Given the description of an element on the screen output the (x, y) to click on. 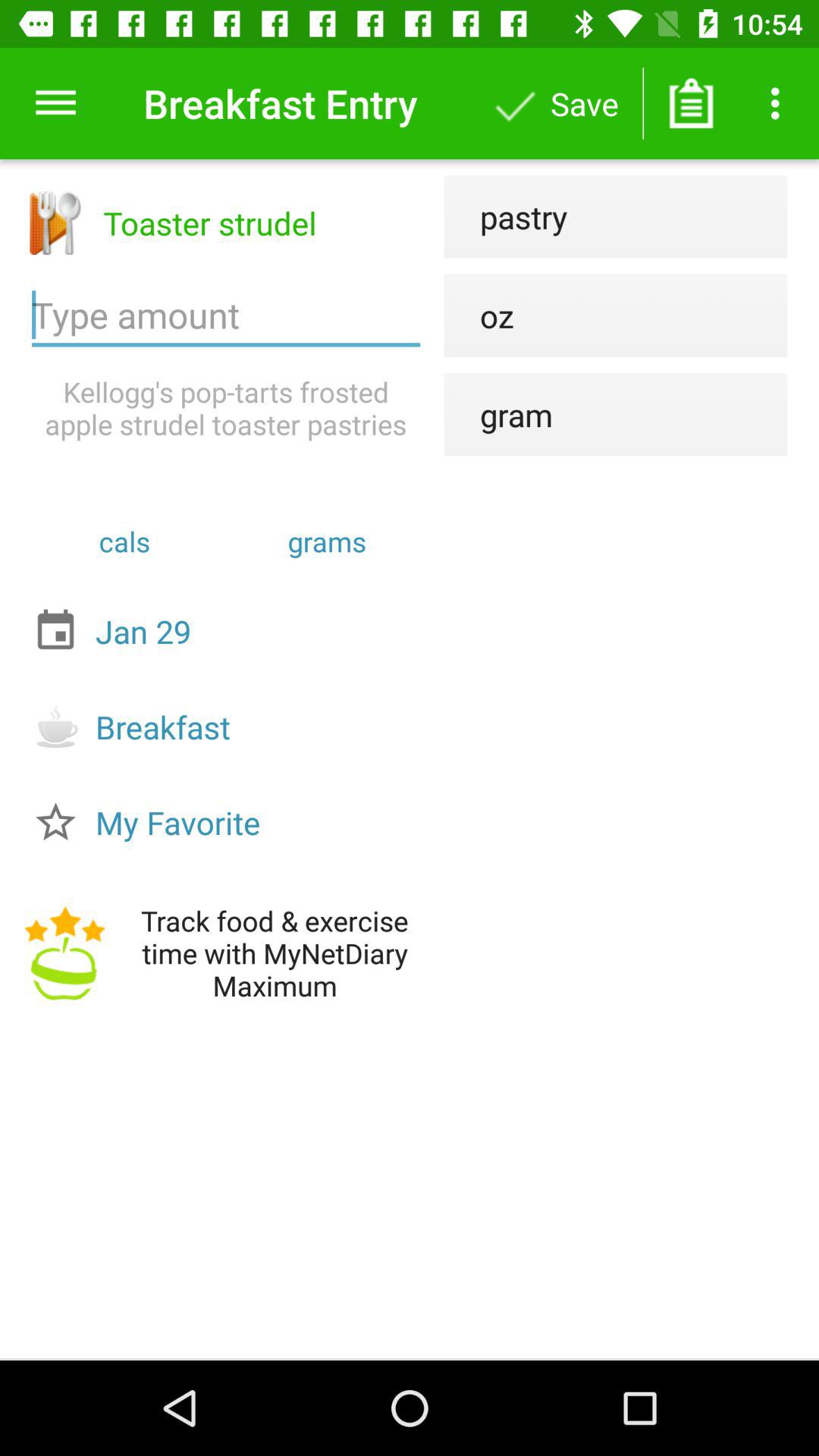
enter amount eaten (225, 315)
